Given the description of an element on the screen output the (x, y) to click on. 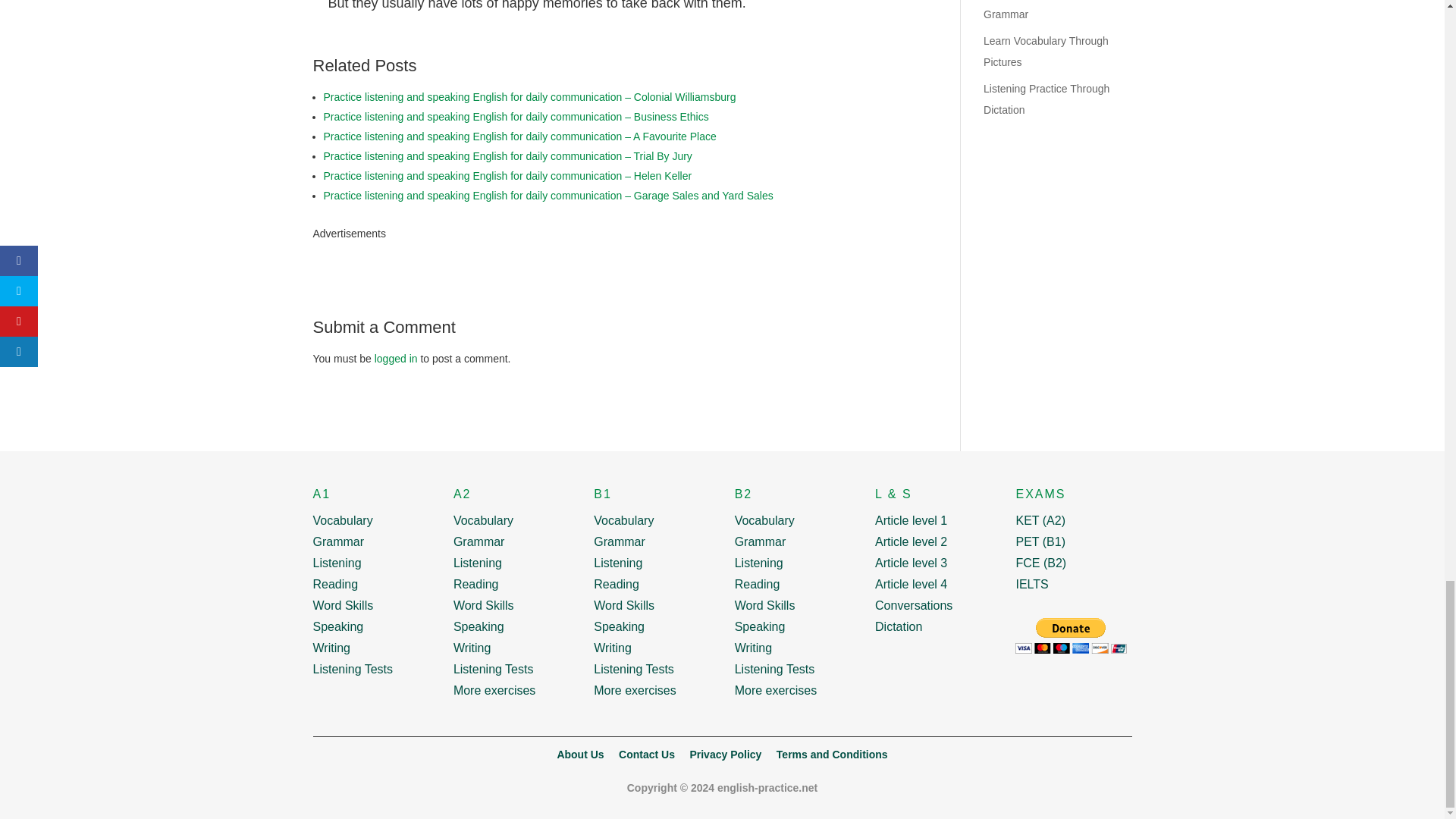
logged in (395, 358)
